Given the description of an element on the screen output the (x, y) to click on. 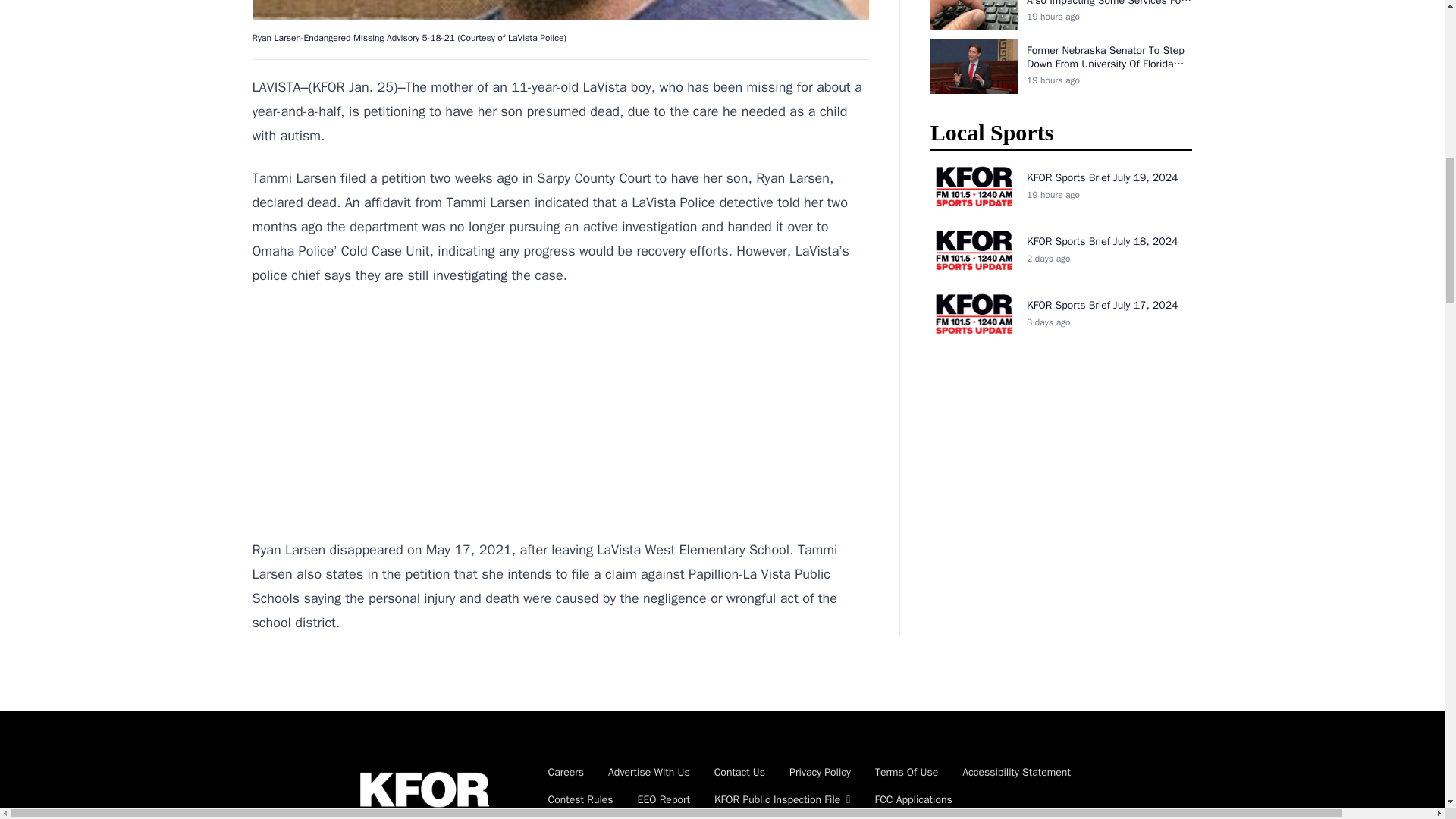
3rd party ad content (560, 411)
